Given the description of an element on the screen output the (x, y) to click on. 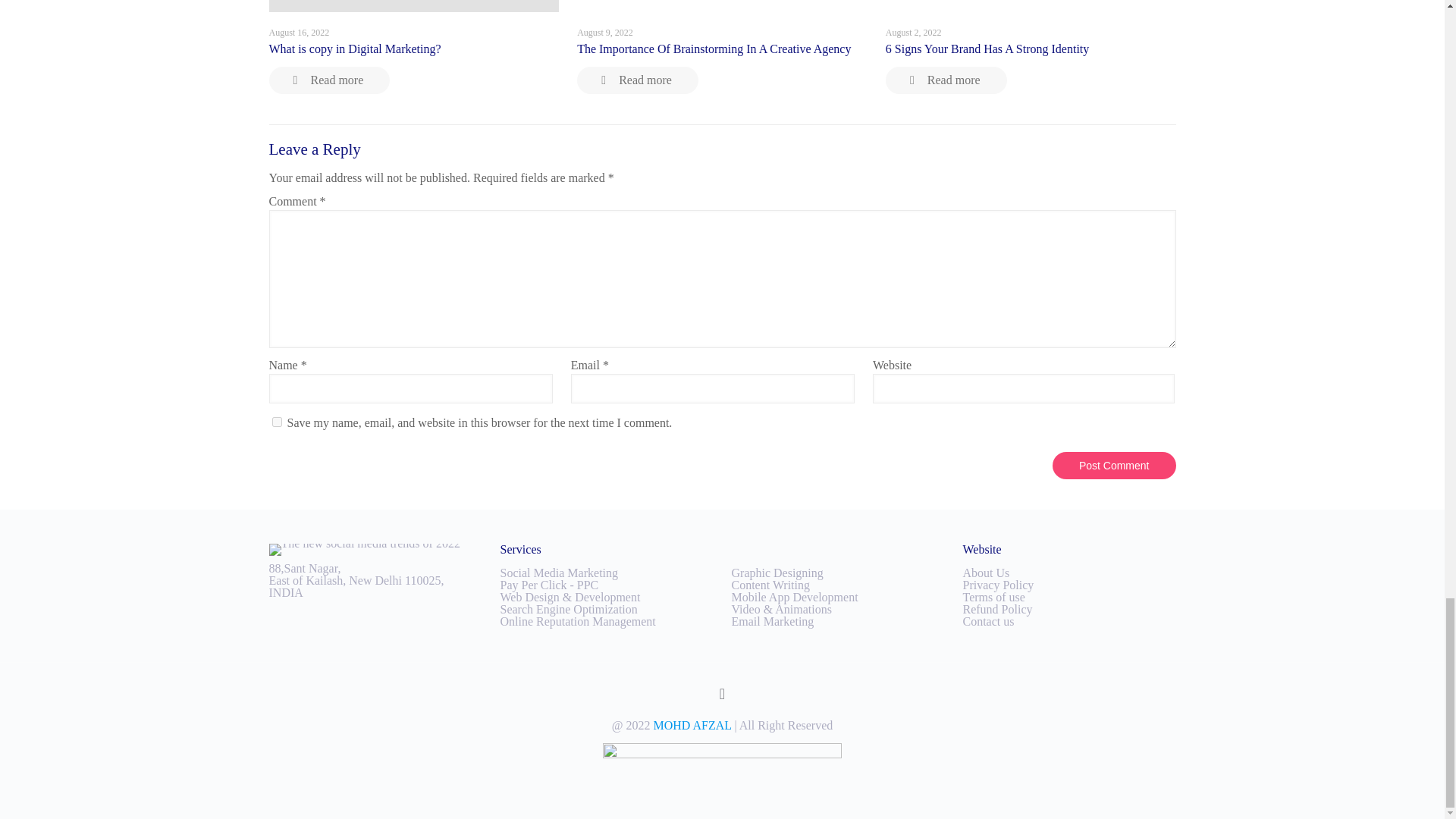
Contact us (988, 621)
Refund Policy (997, 608)
Privacy Policy (997, 584)
Post Comment (1114, 465)
yes (275, 421)
Terms of use (993, 596)
About Us Pizeonfly (986, 572)
Main URL (691, 725)
